Given the description of an element on the screen output the (x, y) to click on. 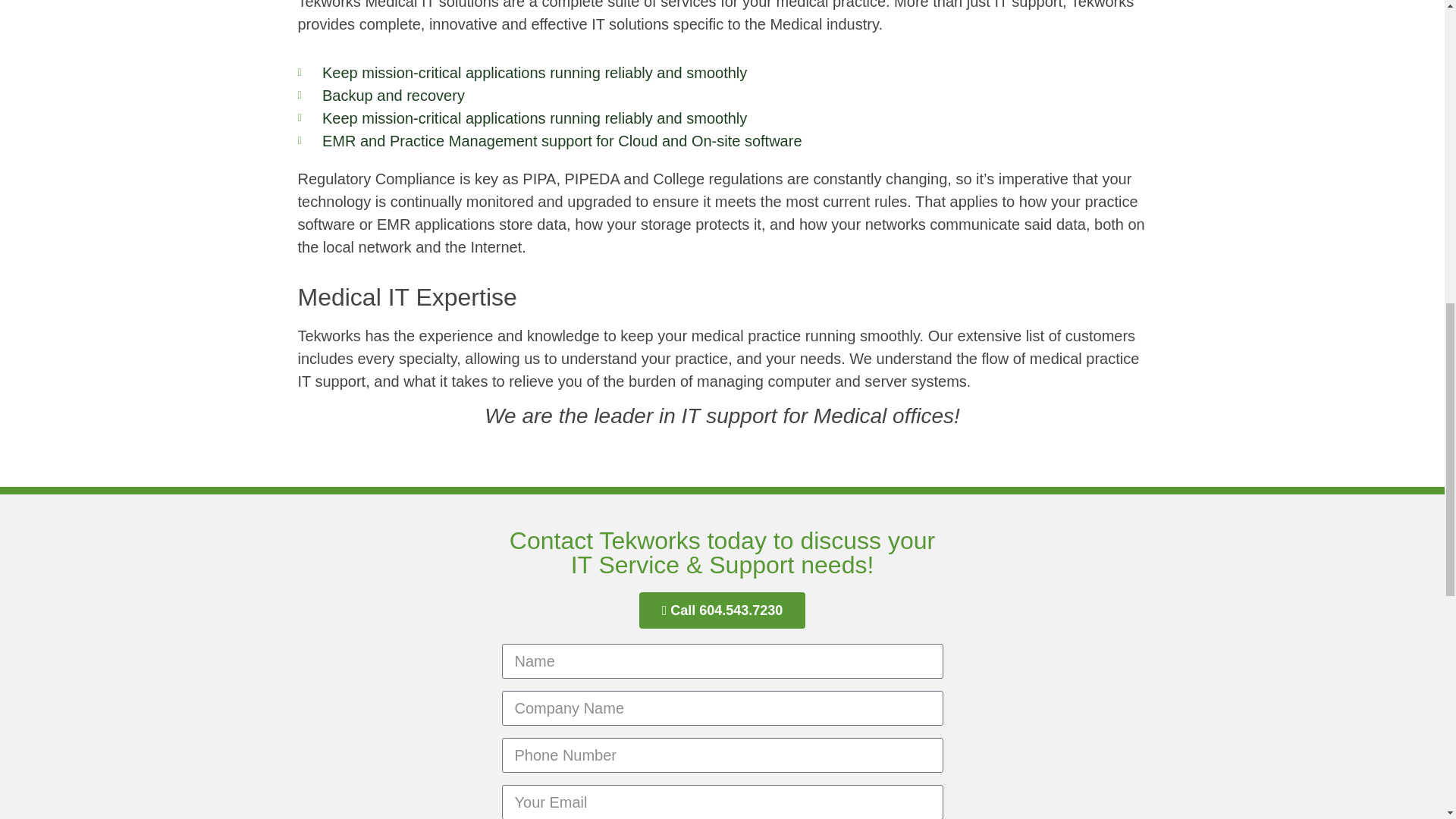
Call 604.543.7230 (722, 610)
